Given the description of an element on the screen output the (x, y) to click on. 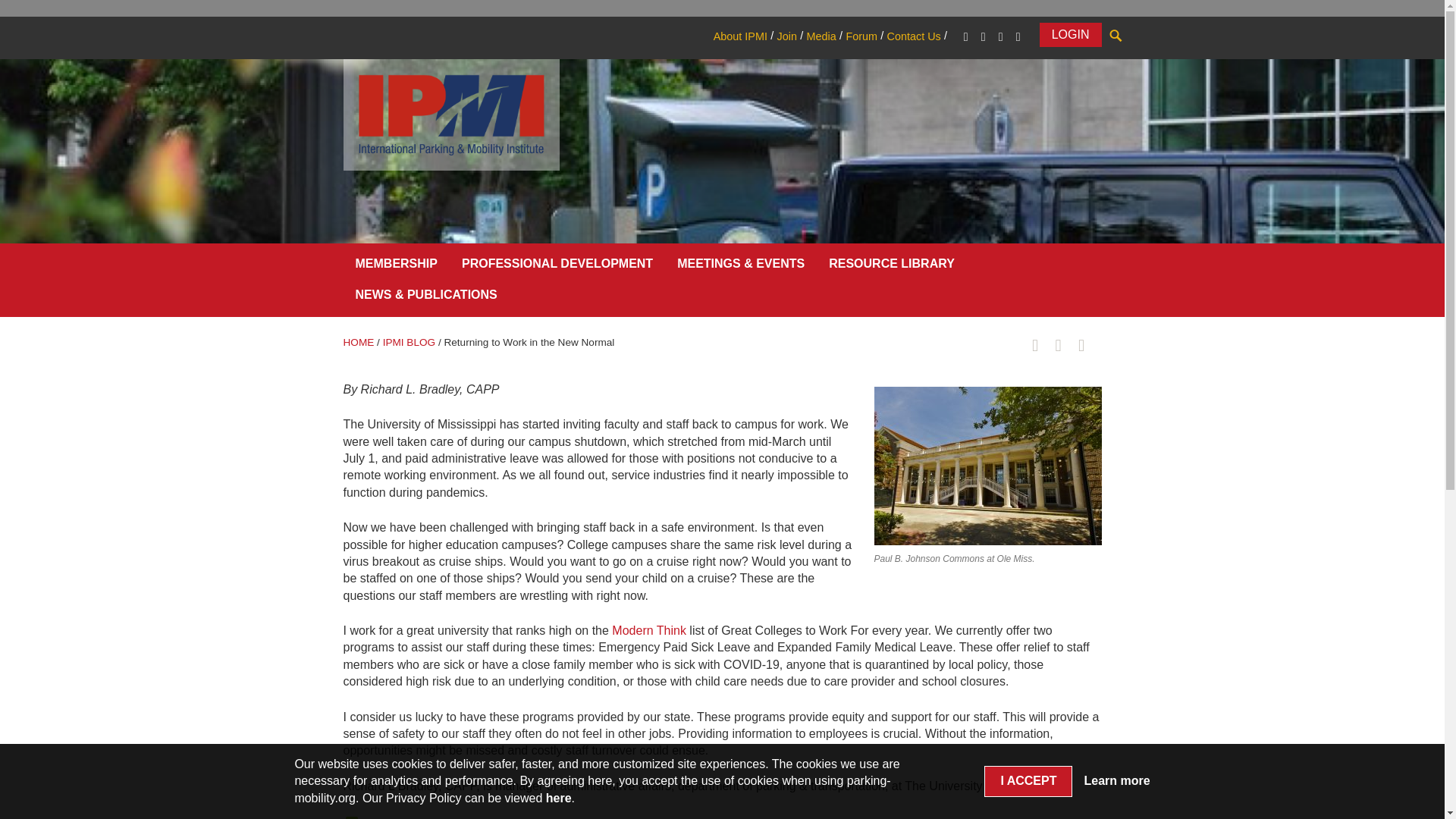
IPMI (450, 113)
MEMBERSHIP (395, 266)
Join (786, 36)
Contact Us (913, 36)
RESOURCE LIBRARY (891, 266)
Media (821, 36)
About IPMI (740, 36)
Go to the IPMI Blog category archives. (408, 342)
LOGIN (1070, 34)
Forum (861, 36)
PROFESSIONAL DEVELOPMENT (557, 266)
